Given the description of an element on the screen output the (x, y) to click on. 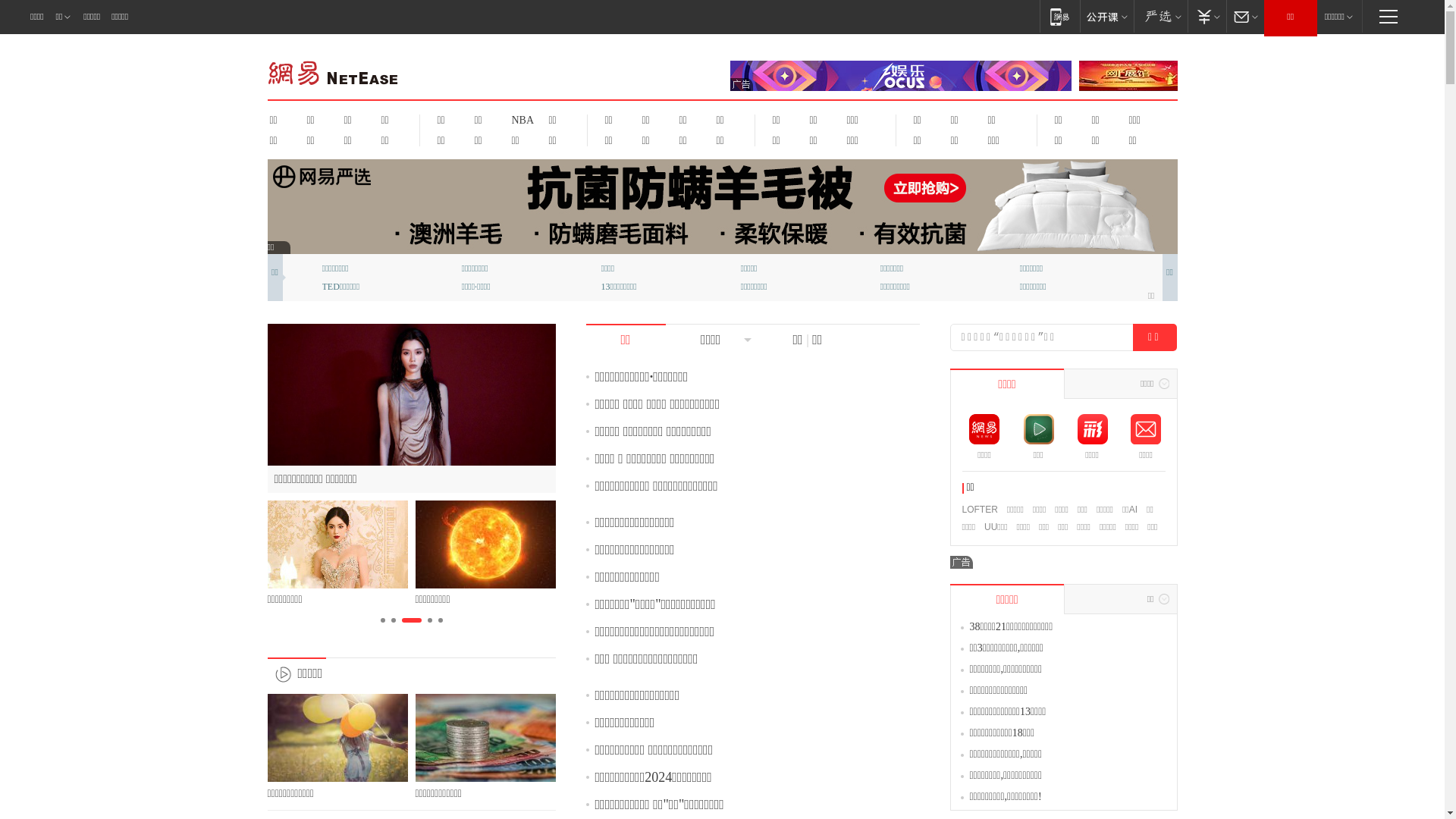
NBA Element type: text (520, 119)
LOFTER Element type: text (979, 509)
